Given the description of an element on the screen output the (x, y) to click on. 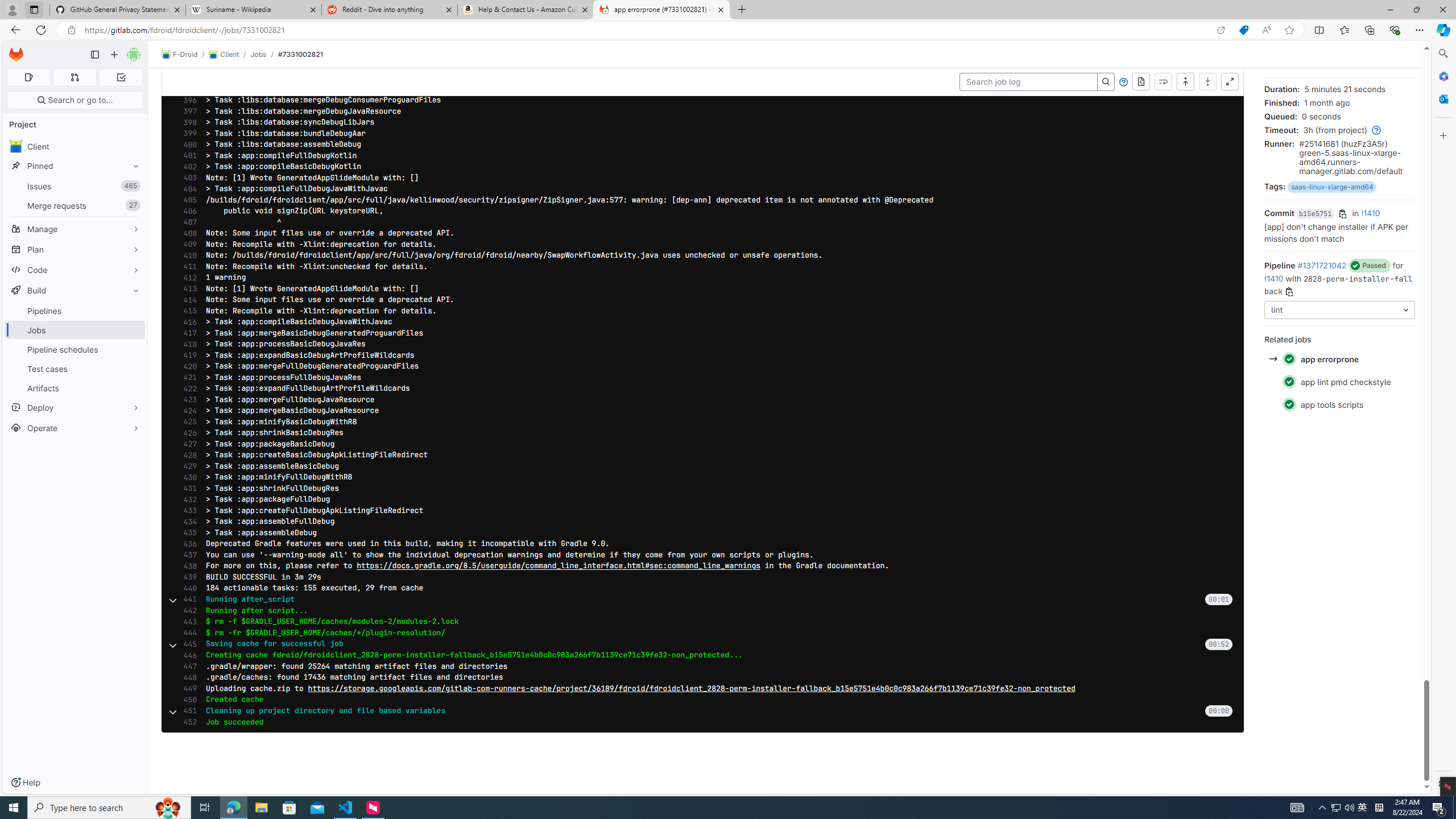
414 (186, 300)
395 (186, 89)
413 (186, 288)
Pipeline schedules (74, 348)
Plan (74, 248)
Status: Passed app errorprone (1338, 359)
430 (186, 477)
avatar (15, 146)
F-Droid/ (185, 54)
450 (186, 699)
Test cases (74, 368)
Open in app (1220, 29)
